Given the description of an element on the screen output the (x, y) to click on. 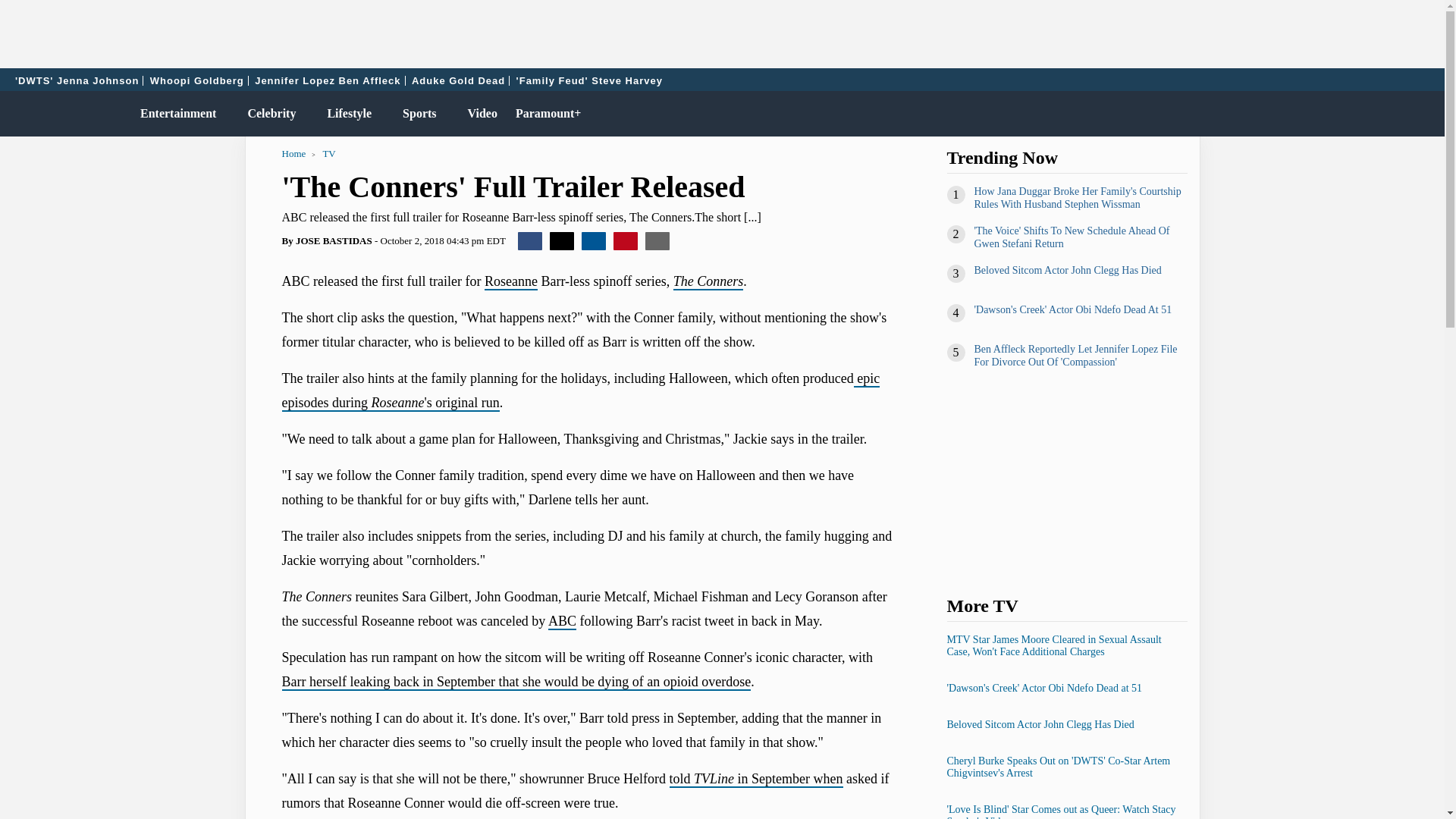
Lifestyle (345, 113)
'DWTS' Jenna Johnson (76, 80)
Video (479, 113)
Dark Mode (1394, 113)
Jennifer Lopez Ben Affleck (327, 80)
Search (1426, 114)
'Family Feud' Steve Harvey (589, 80)
Sports (416, 113)
Whoopi Goldberg (197, 80)
Entertainment (175, 113)
